Given the description of an element on the screen output the (x, y) to click on. 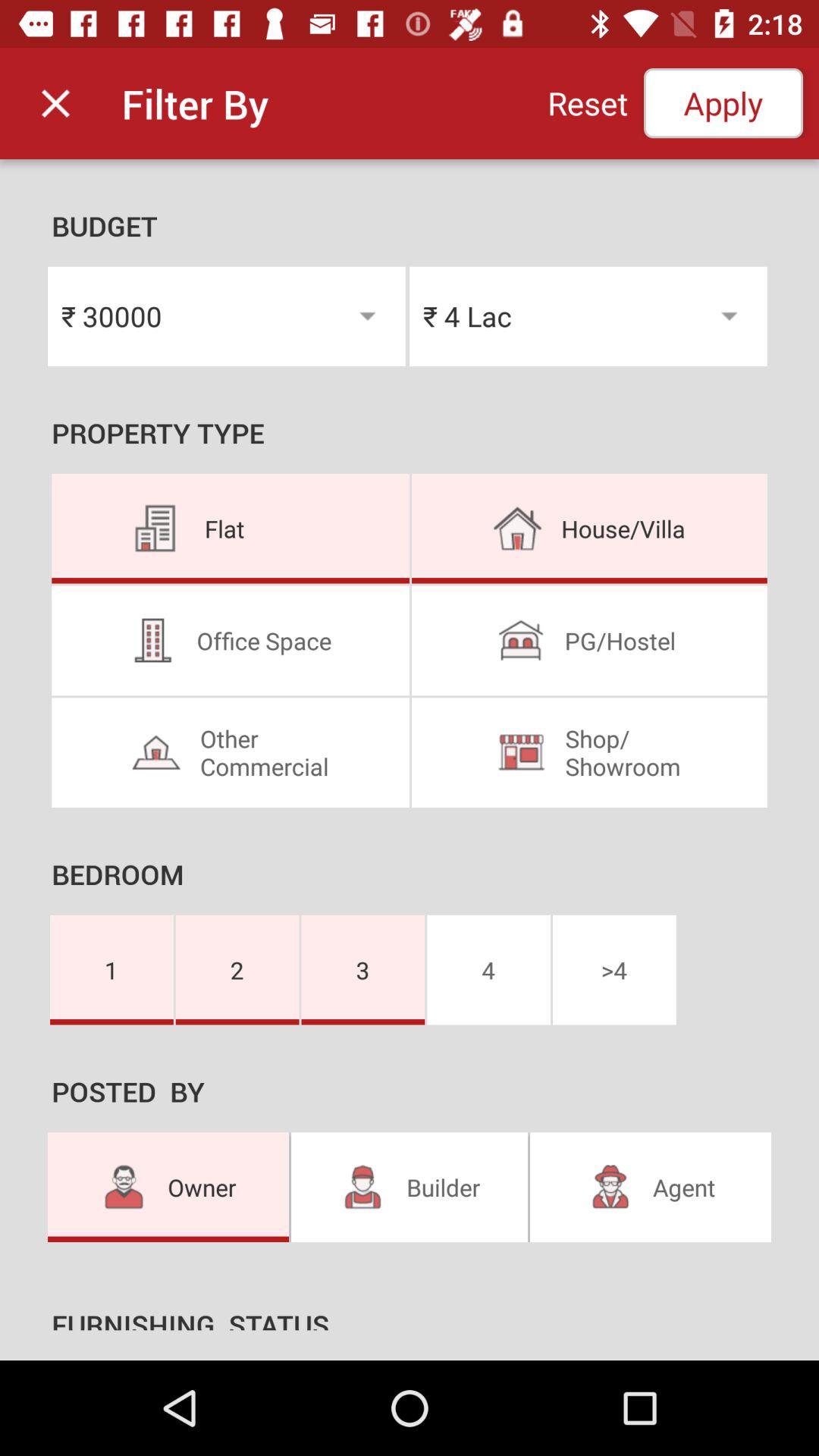
exit menu (55, 103)
